Given the description of an element on the screen output the (x, y) to click on. 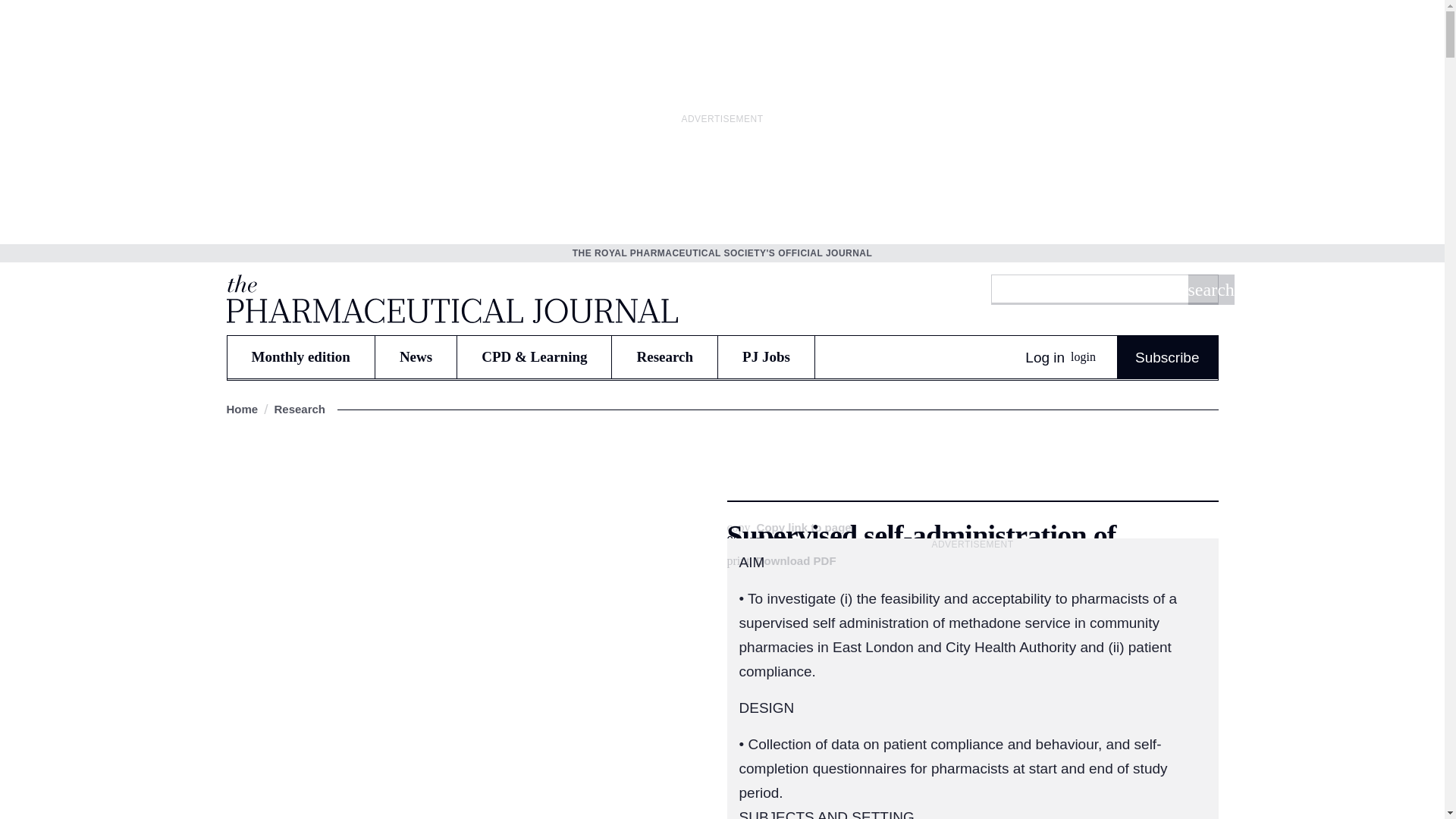
Search (1210, 289)
Monthly edition (300, 356)
News (416, 356)
The Pharmaceutical Journal (451, 298)
